Given the description of an element on the screen output the (x, y) to click on. 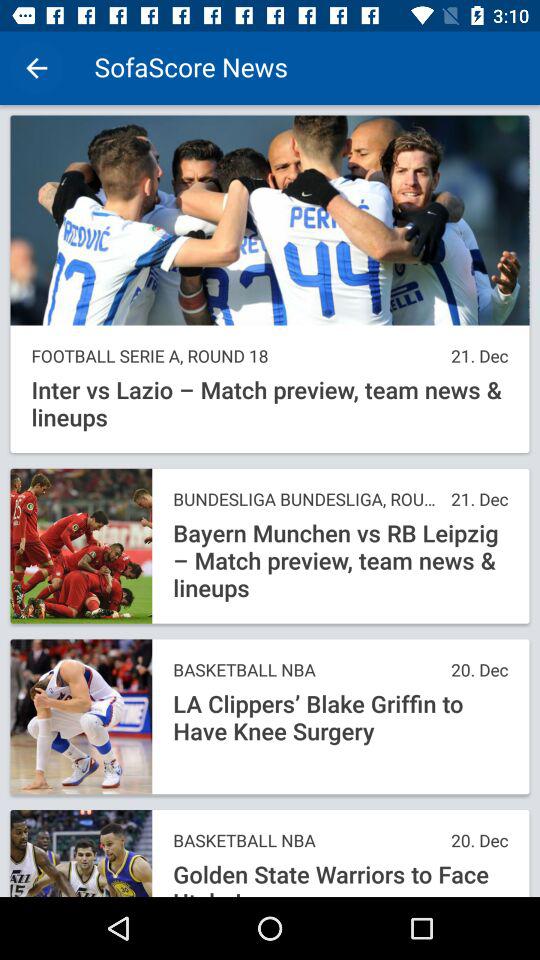
click football serie a icon (235, 356)
